Given the description of an element on the screen output the (x, y) to click on. 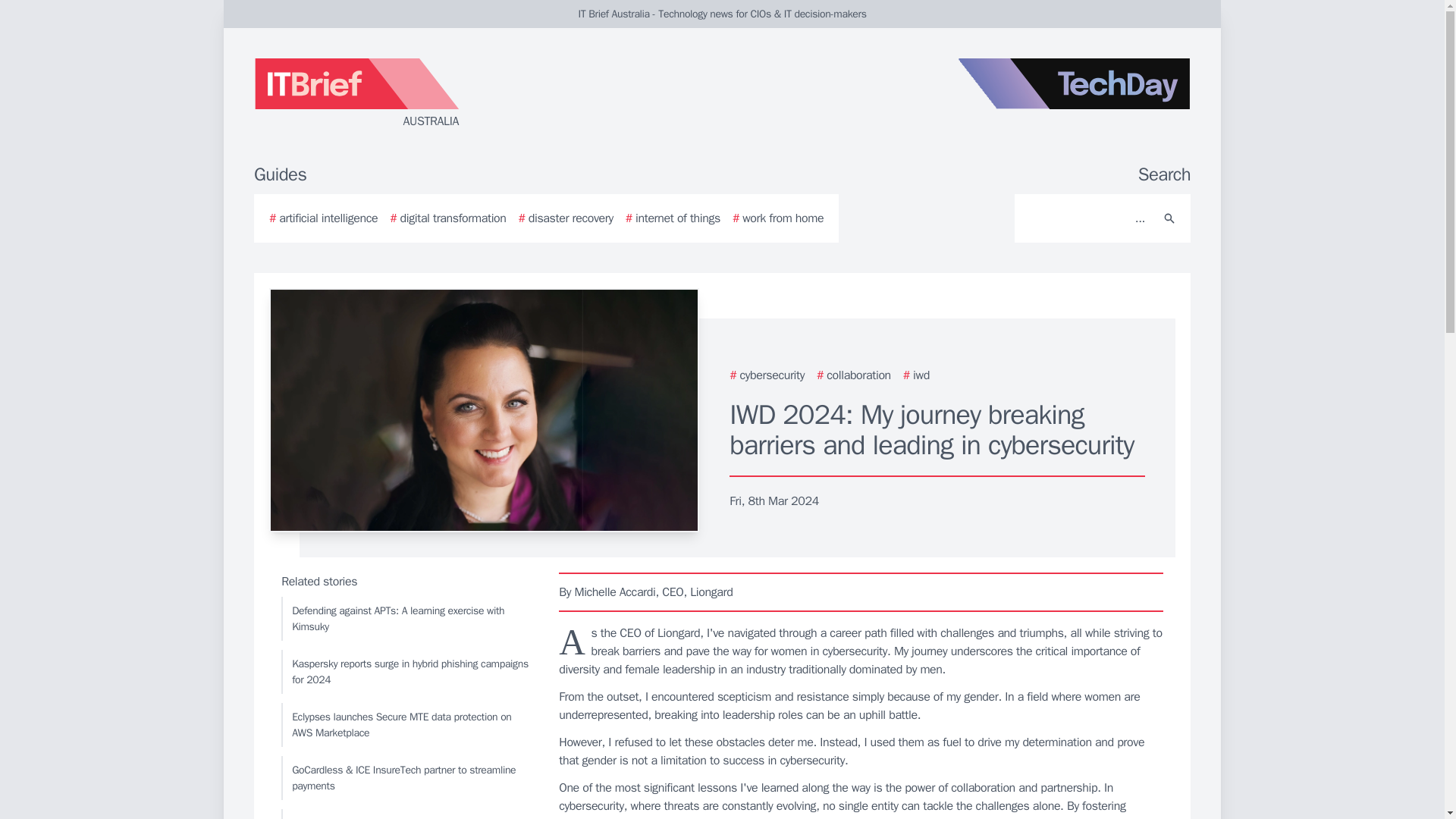
AUSTRALIA (435, 94)
By Michelle Accardi, CEO, Liongard (861, 592)
Defending against APTs: A learning exercise with Kimsuky (406, 618)
